Given the description of an element on the screen output the (x, y) to click on. 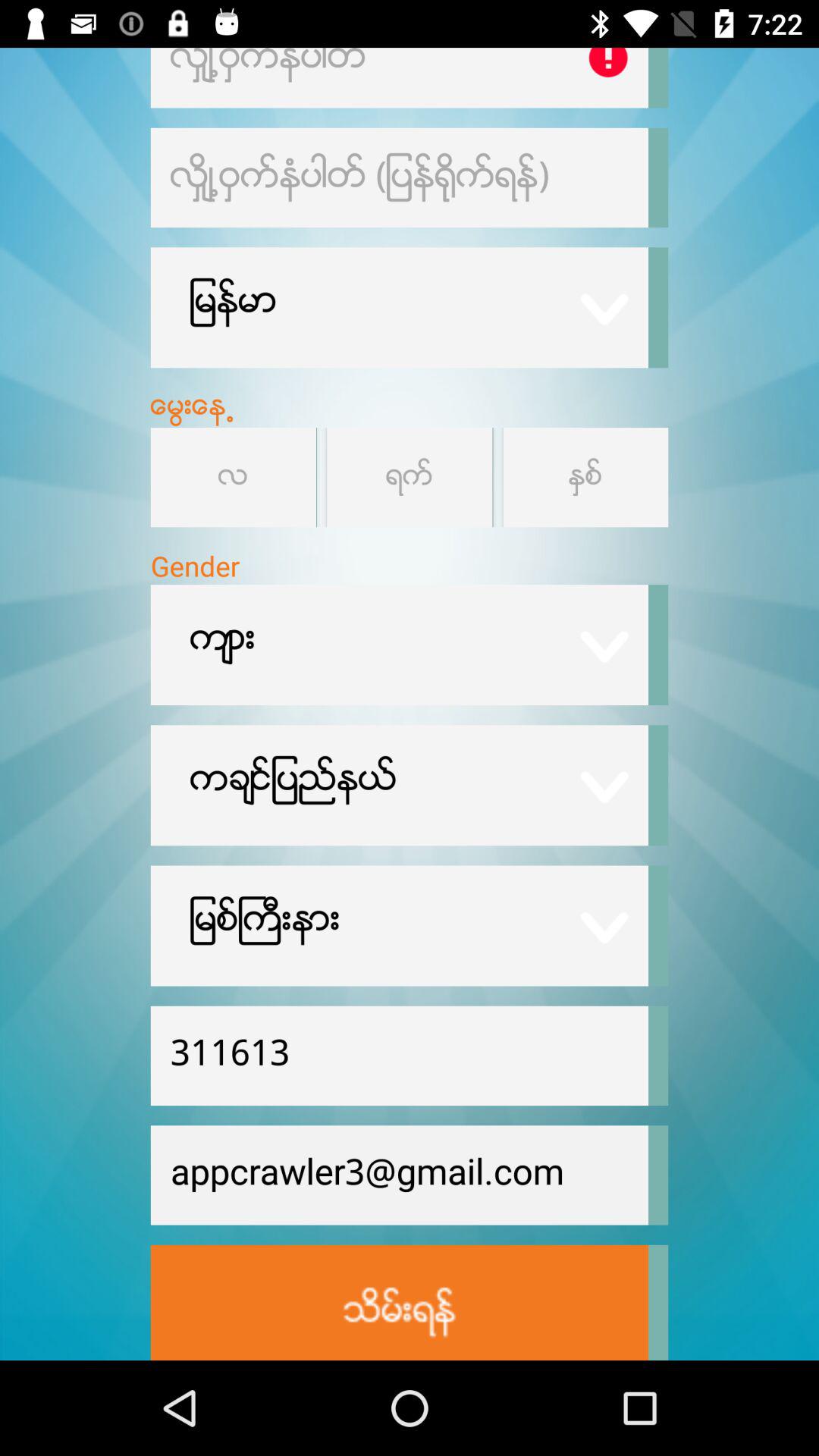
change a profile setting (399, 77)
